Given the description of an element on the screen output the (x, y) to click on. 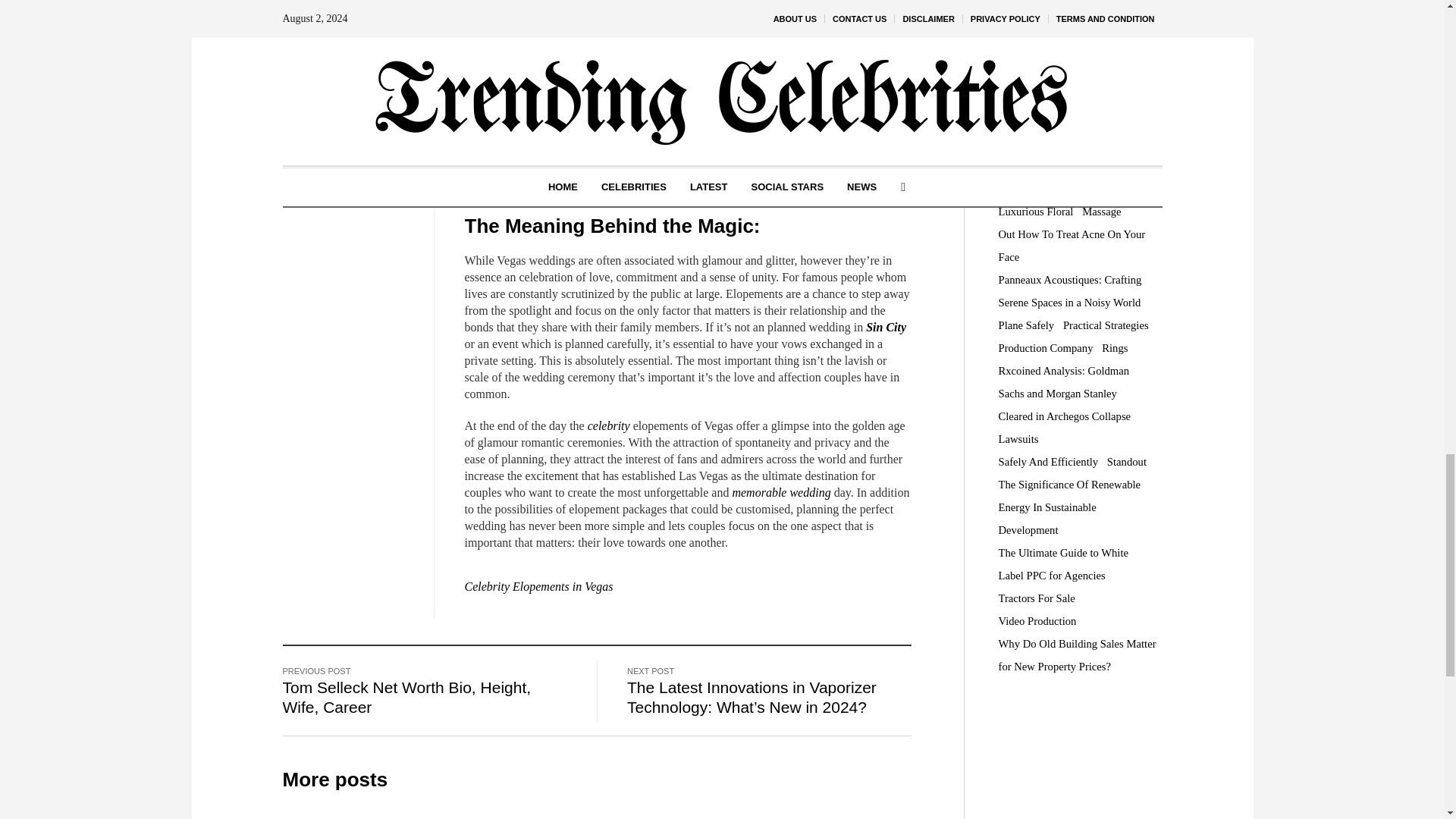
Tom Selleck Net Worth Bio, Height, Wife, Career (406, 697)
elopement package in Vegas (745, 23)
Celebrity Elopements in Vegas (538, 585)
Sin City (885, 327)
memorable wedding (780, 492)
celebrity (609, 425)
